Given the description of an element on the screen output the (x, y) to click on. 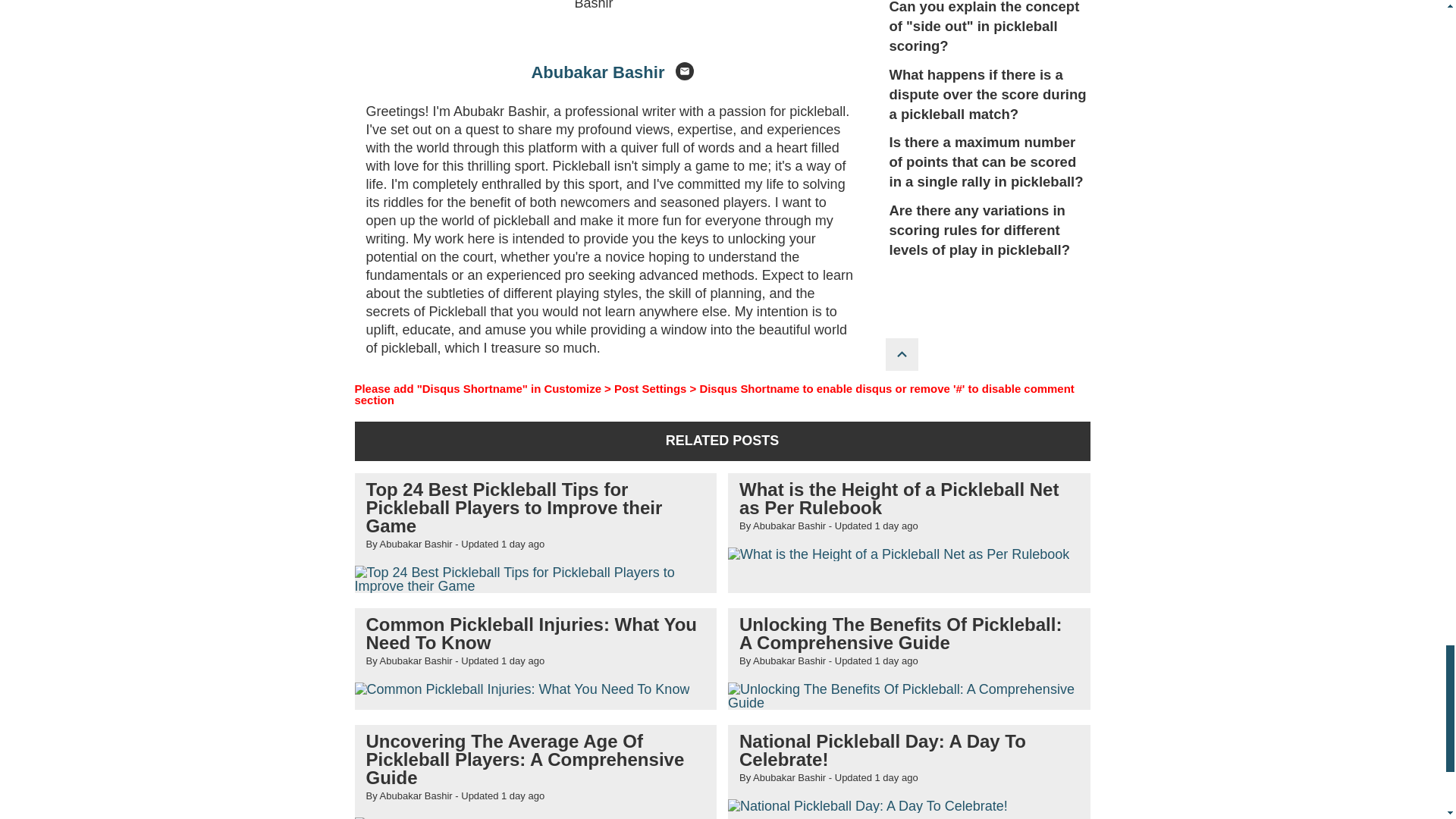
Abubakar Bashir (597, 72)
